Given the description of an element on the screen output the (x, y) to click on. 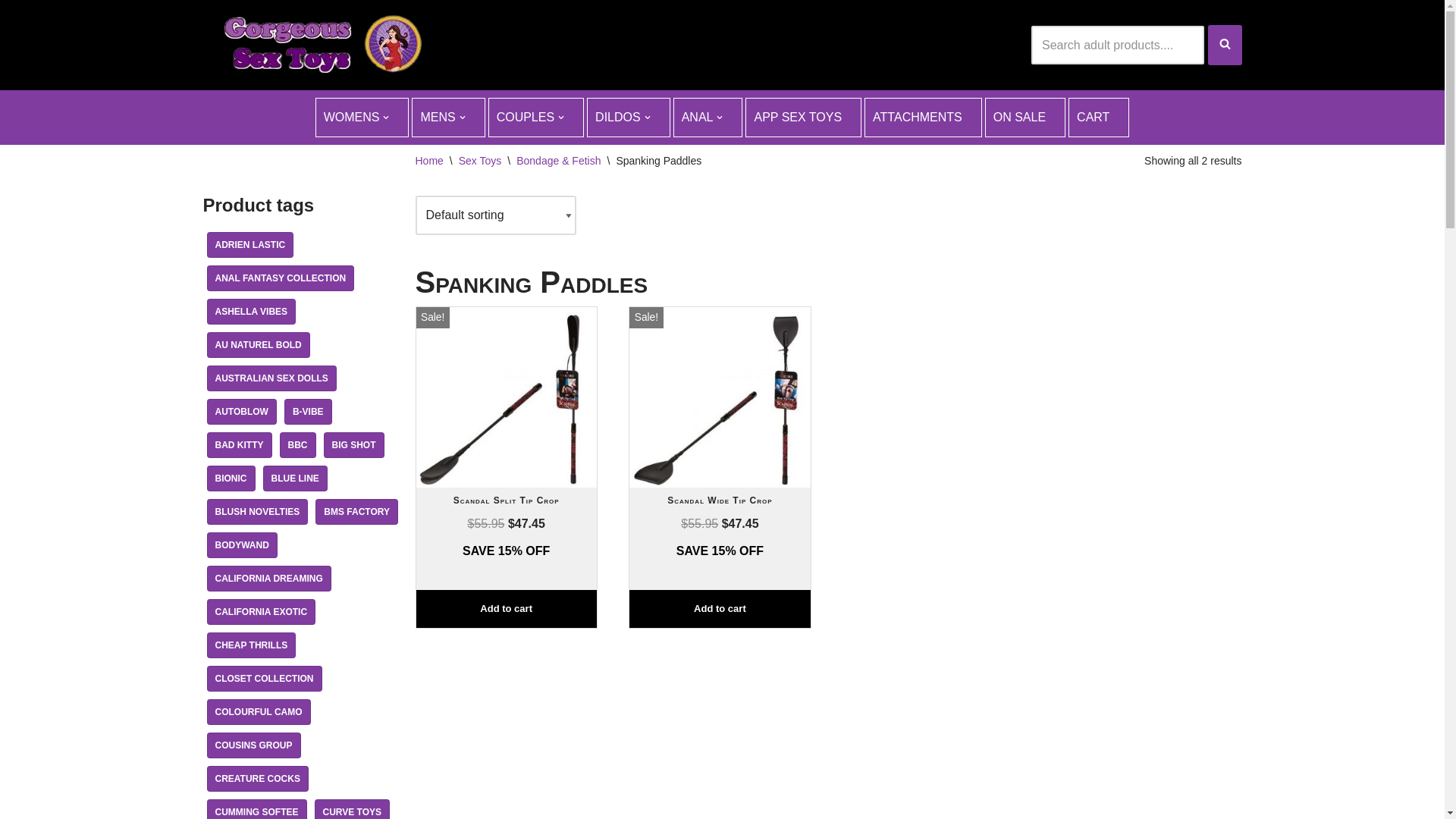
BLUE LINE Element type: text (294, 478)
ASHELLA VIBES Element type: text (250, 311)
CHEAP THRILLS Element type: text (250, 645)
AUSTRALIAN SEX DOLLS Element type: text (270, 378)
Home Element type: text (429, 160)
CLOSET COLLECTION Element type: text (263, 678)
CREATURE COCKS Element type: text (256, 778)
Skip to content Element type: text (11, 31)
ATTACHMENTS Element type: text (923, 117)
BAD KITTY Element type: text (238, 445)
CALIFORNIA DREAMING Element type: text (268, 578)
BODYWAND Element type: text (241, 545)
AU NATUREL BOLD Element type: text (257, 344)
CART Element type: text (1098, 117)
CALIFORNIA EXOTIC Element type: text (260, 611)
WOMENS Element type: text (362, 117)
Add to cart Element type: text (719, 608)
COUSINS GROUP Element type: text (253, 745)
ANAL Element type: text (708, 117)
AUTOBLOW Element type: text (241, 411)
BIONIC Element type: text (230, 478)
Gorgeous Sex Toys Element type: hover (316, 44)
Add to cart Element type: text (505, 608)
B-VIBE Element type: text (308, 411)
Sale!
Scandal Wide Tip Crop
$55.95 $47.45
SAVE 15% OFF Element type: text (719, 460)
APP SEX TOYS Element type: text (803, 117)
COLOURFUL CAMO Element type: text (258, 711)
BBC Element type: text (297, 445)
ADRIEN LASTIC Element type: text (249, 244)
ANAL FANTASY COLLECTION Element type: text (280, 278)
ON SALE Element type: text (1025, 117)
Bondage & Fetish Element type: text (558, 160)
BLUSH NOVELTIES Element type: text (256, 511)
Sale!
Scandal Split Tip Crop
$55.95 $47.45
SAVE 15% OFF Element type: text (505, 460)
COUPLES Element type: text (535, 117)
BIG SHOT Element type: text (353, 445)
Sex Toys Element type: text (480, 160)
DILDOS Element type: text (628, 117)
MENS Element type: text (447, 117)
BMS FACTORY Element type: text (356, 511)
